Given the description of an element on the screen output the (x, y) to click on. 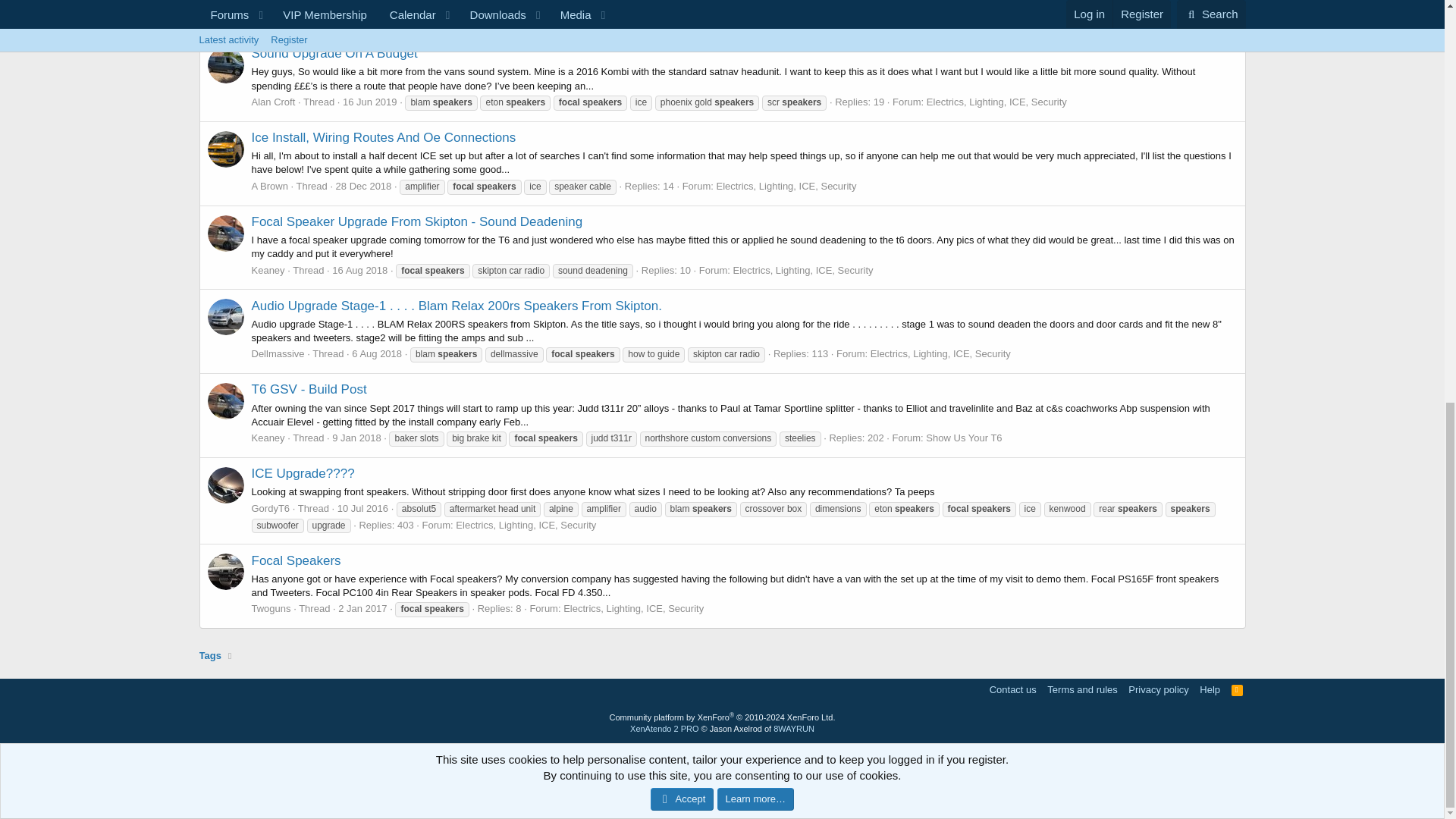
2 Jan 2017 at 13:12 (362, 608)
RSS (1237, 689)
9 Jan 2018 at 23:39 (355, 437)
28 Dec 2018 at 08:44 (363, 185)
10 Jul 2016 at 09:27 (362, 508)
16 Aug 2018 at 20:37 (359, 270)
18 Jun 2017 at 20:56 (364, 4)
6 Aug 2018 at 14:25 (376, 353)
16 Jun 2019 at 10:06 (369, 101)
